Given the description of an element on the screen output the (x, y) to click on. 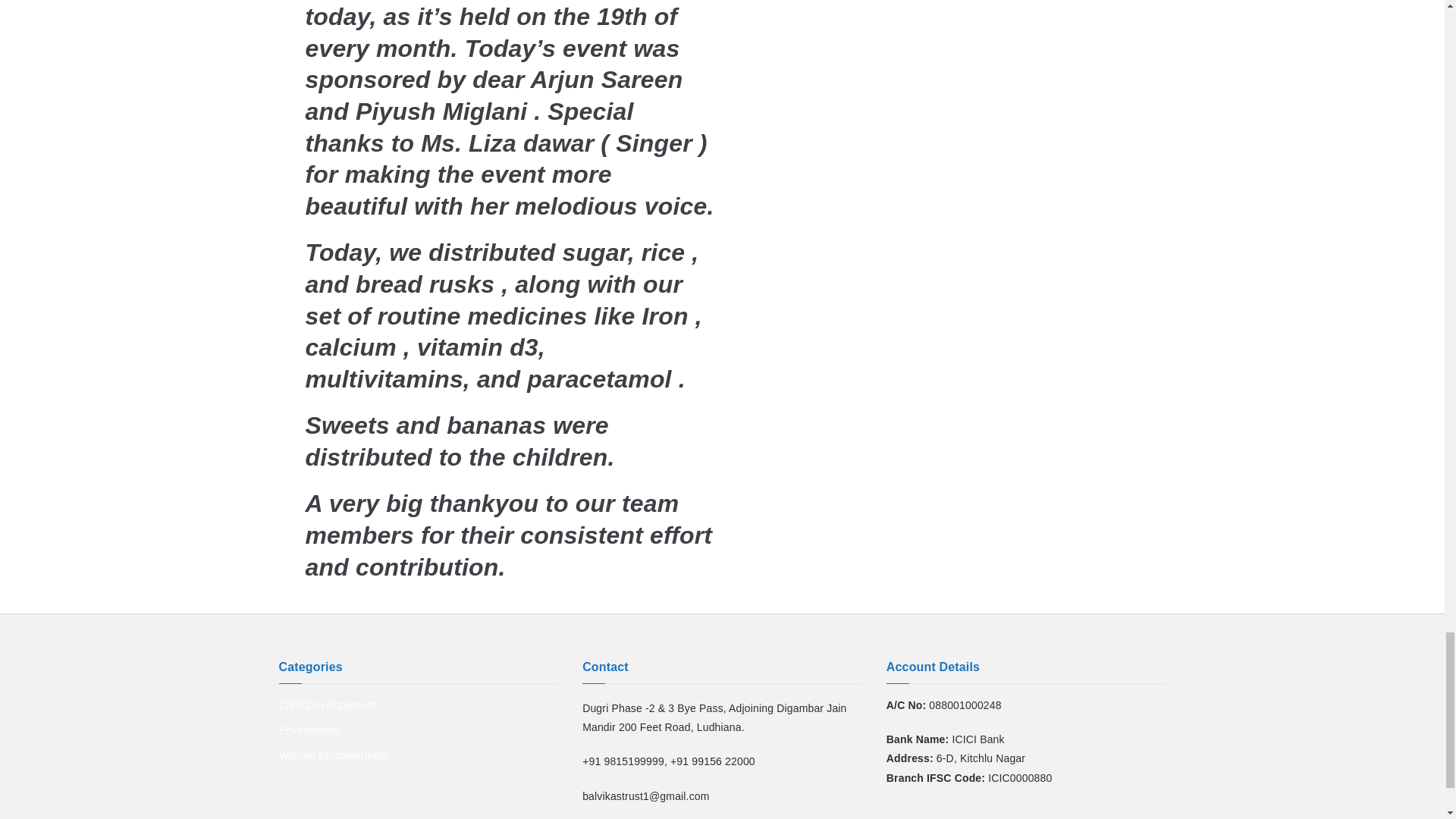
Women Empowerment (333, 755)
Environment (309, 730)
Child Developement (328, 705)
